Given the description of an element on the screen output the (x, y) to click on. 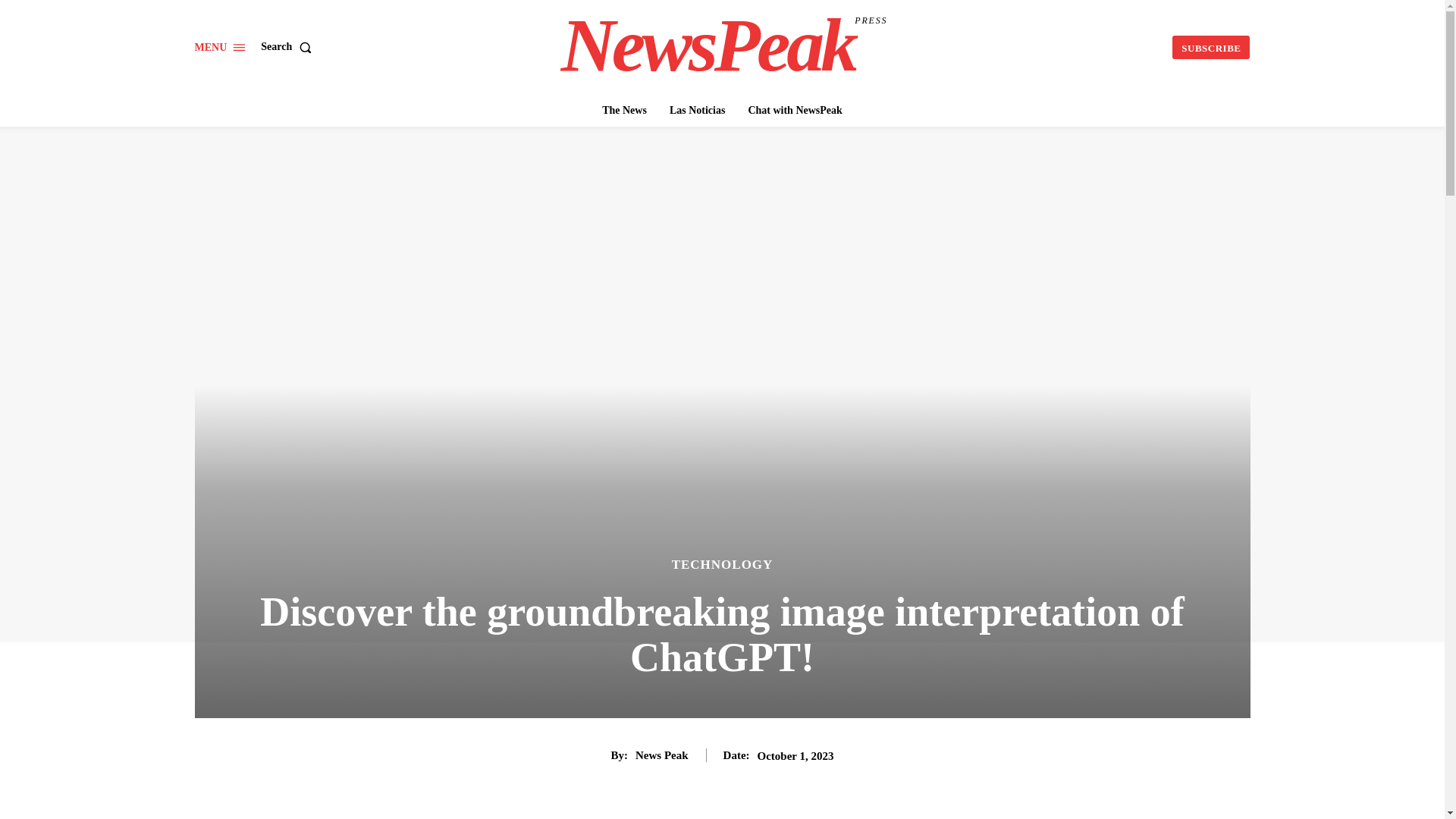
Subscribe (1210, 47)
MENU (219, 47)
Search (288, 47)
SUBSCRIBE (723, 45)
The News (1210, 47)
Menu (623, 110)
